Given the description of an element on the screen output the (x, y) to click on. 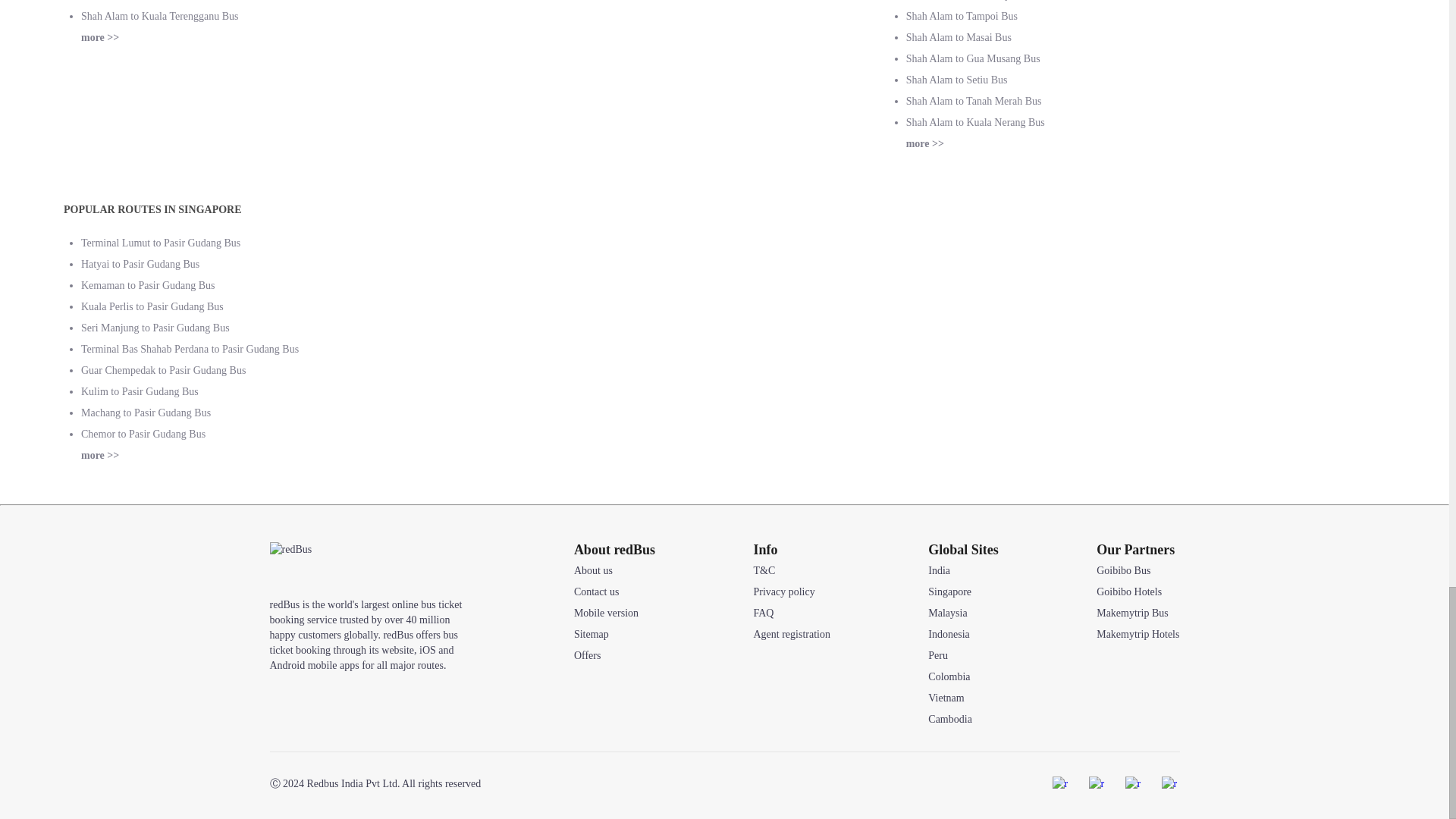
Kulim to Pasir Gudang Bus (139, 391)
Hatyai to Pasir Gudang Bus (140, 264)
Shah Alam to Kuala Nerang Bus (975, 122)
Shah Alam to Kuala Terengganu Bus (159, 16)
Shah Alam to Setiu Bus (956, 79)
redBus (307, 567)
Terminal Lumut to Pasir Gudang Bus (160, 242)
Shah Alam to Tampoi Bus (961, 16)
Shah Alam to Masai Bus (958, 37)
Guar Chempedak to Pasir Gudang Bus (163, 369)
Seri Manjung to Pasir Gudang Bus (155, 327)
Shah Alam to Tanah Merah Bus (973, 101)
Terminal Bas Shahab Perdana to Pasir Gudang Bus (189, 348)
